Given the description of an element on the screen output the (x, y) to click on. 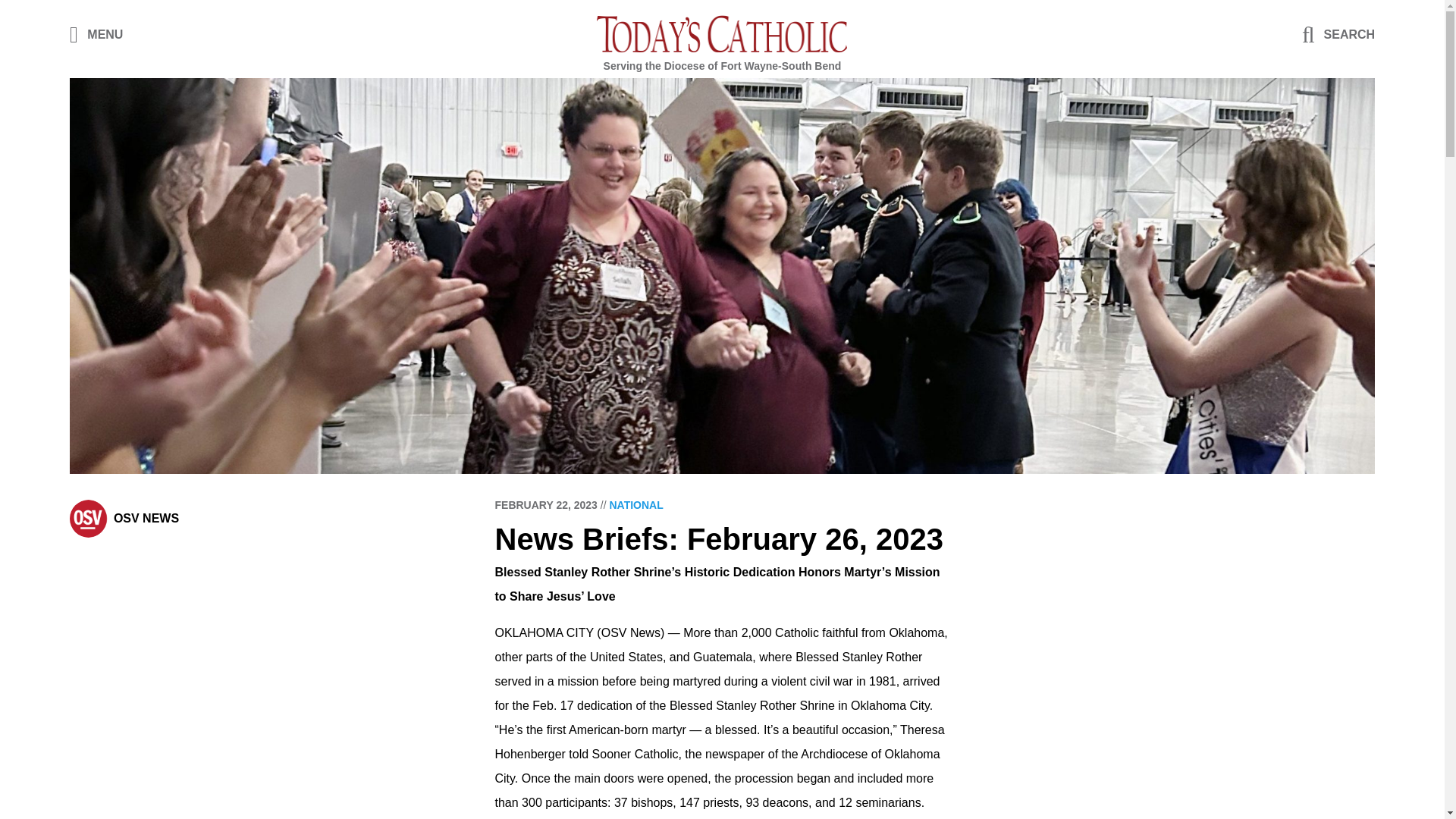
NATIONAL (635, 504)
OSV NEWS (146, 517)
MENU (96, 33)
